Given the description of an element on the screen output the (x, y) to click on. 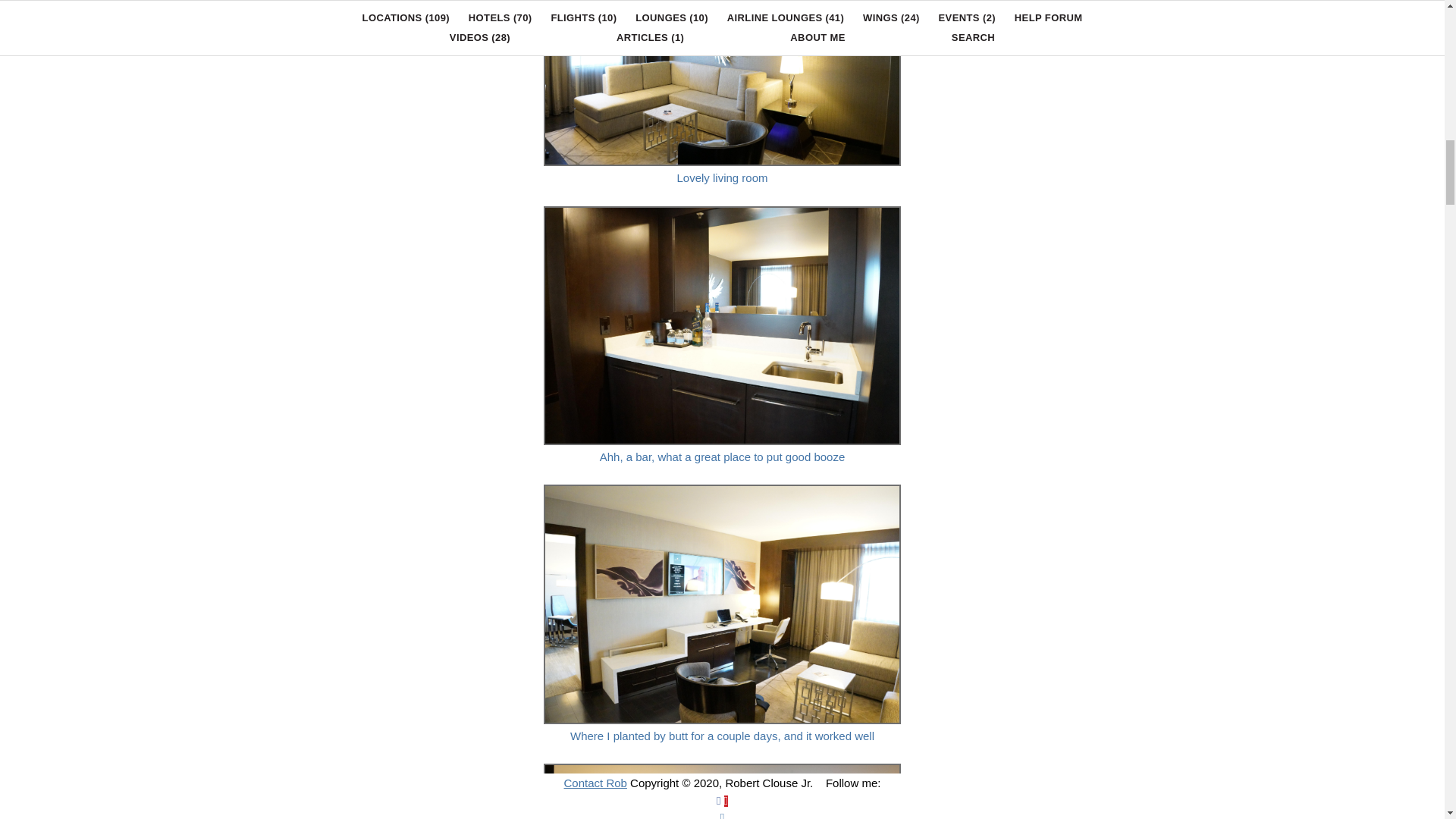
Roomy and lovely private secluded bedroom (722, 759)
Ahh, a bar, what a great place to put good booze (722, 202)
